Given the description of an element on the screen output the (x, y) to click on. 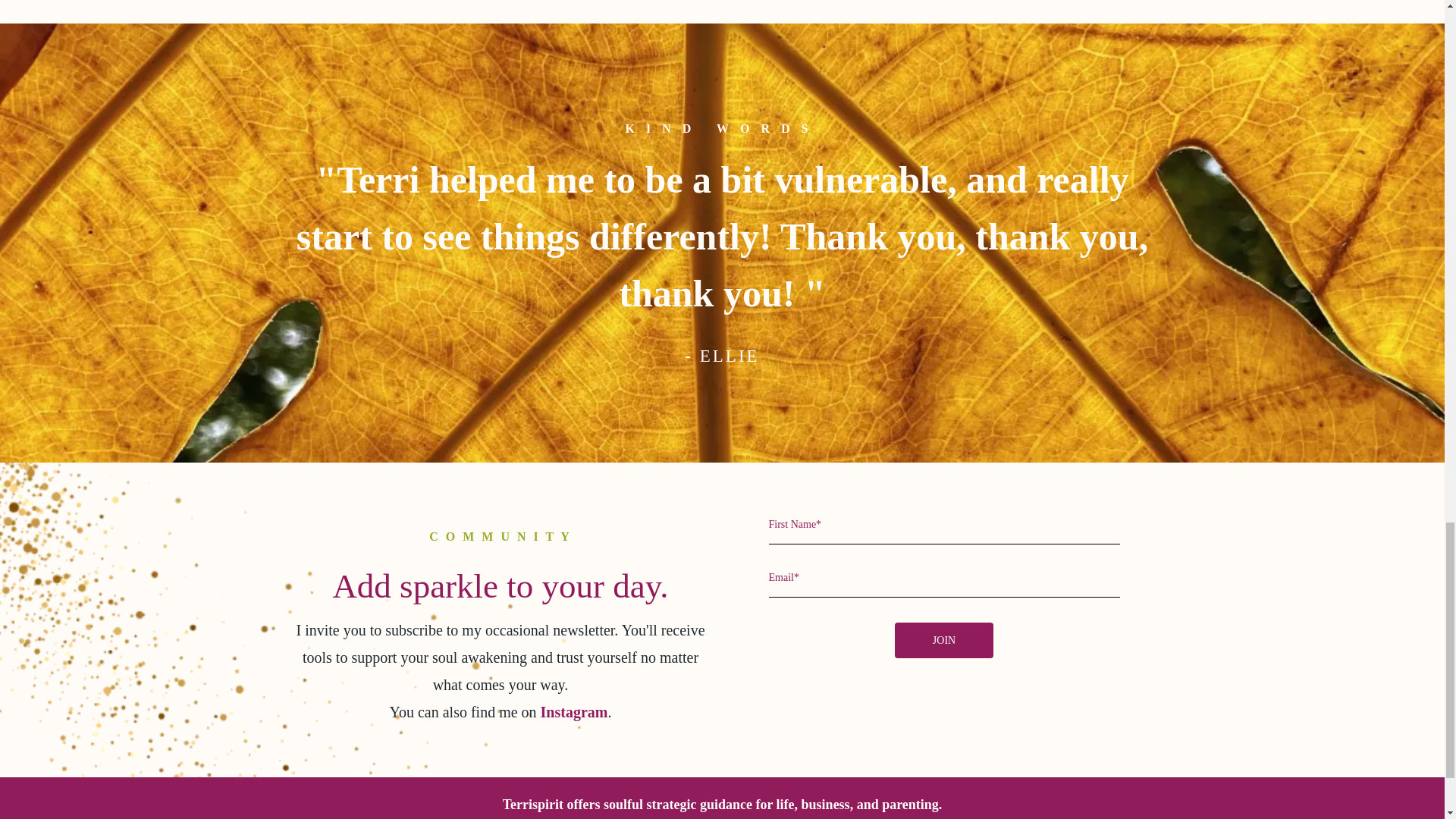
Instagram (574, 711)
JOIN (943, 640)
